Given the description of an element on the screen output the (x, y) to click on. 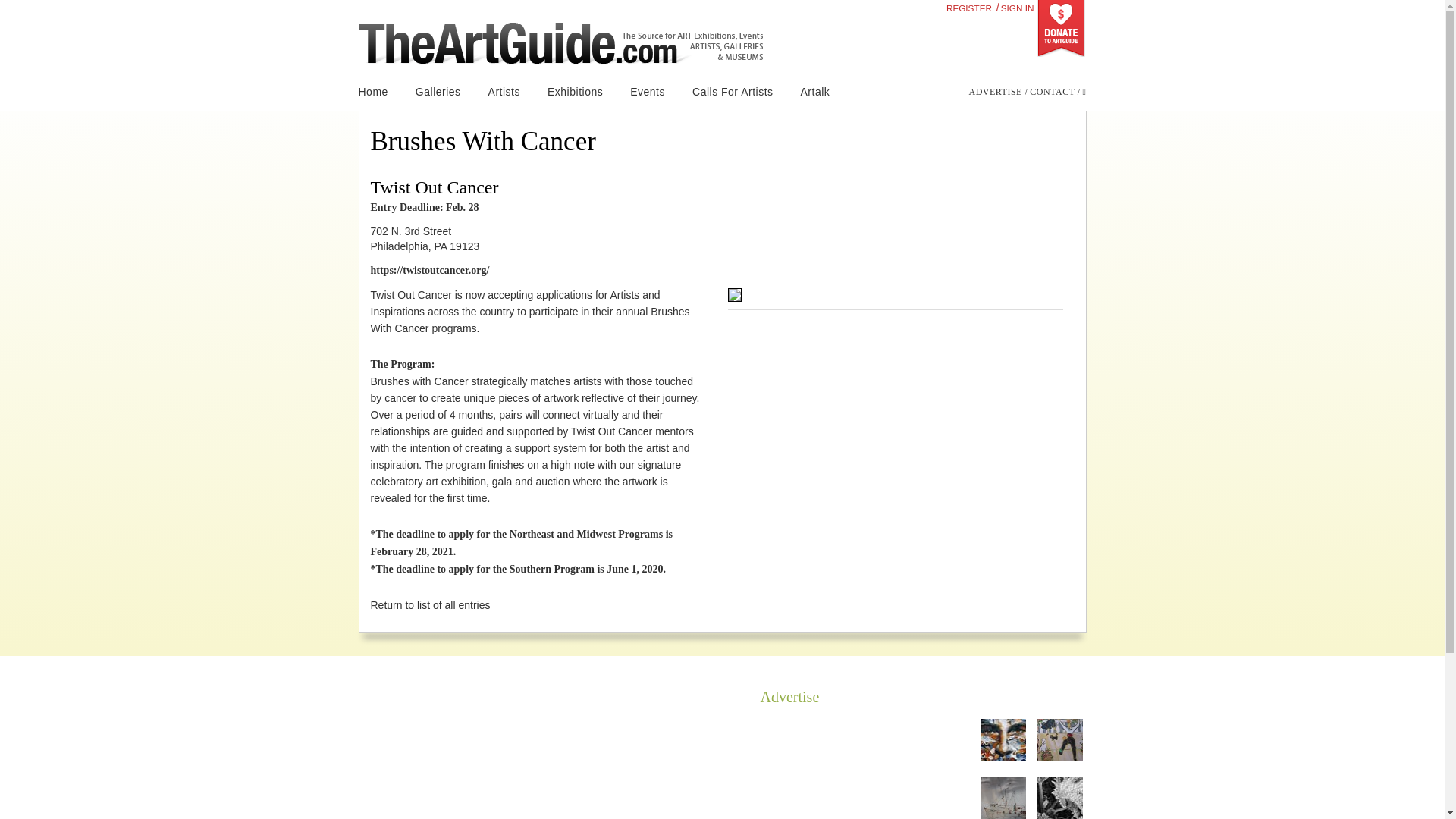
FEATURE GALLERY (810, 775)
Home (379, 91)
HOMEPAGE IMAGES (812, 799)
Galleries (437, 91)
Calls For Artists (732, 91)
Artalk (815, 91)
REGISTER (968, 8)
Artists (504, 91)
BANNER ADS (794, 727)
Return to list of all entries (429, 604)
